Given the description of an element on the screen output the (x, y) to click on. 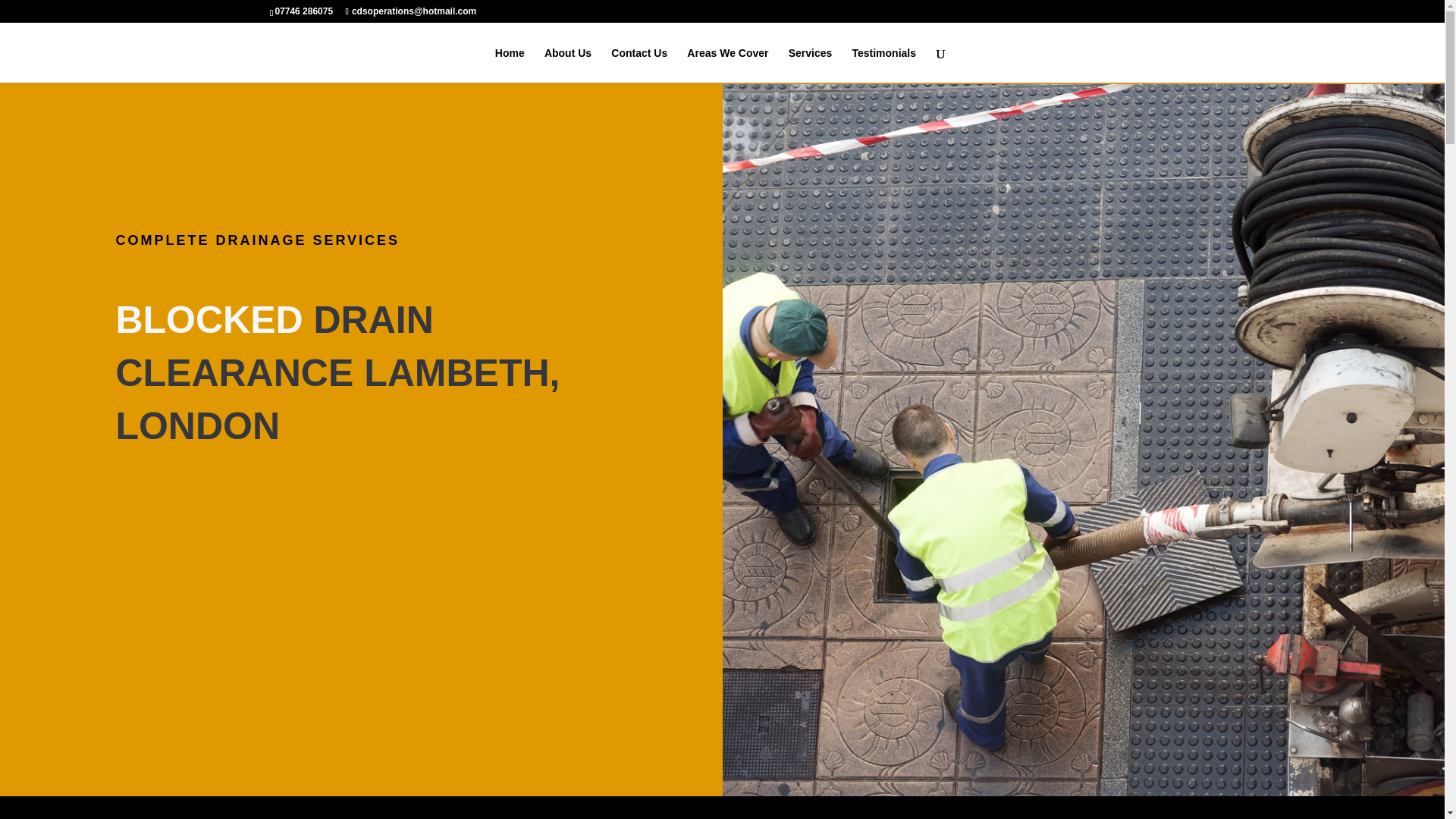
About Us (567, 64)
Areas We Cover (727, 64)
Contact Us (638, 64)
Services (810, 64)
Testimonials (883, 64)
